Given the description of an element on the screen output the (x, y) to click on. 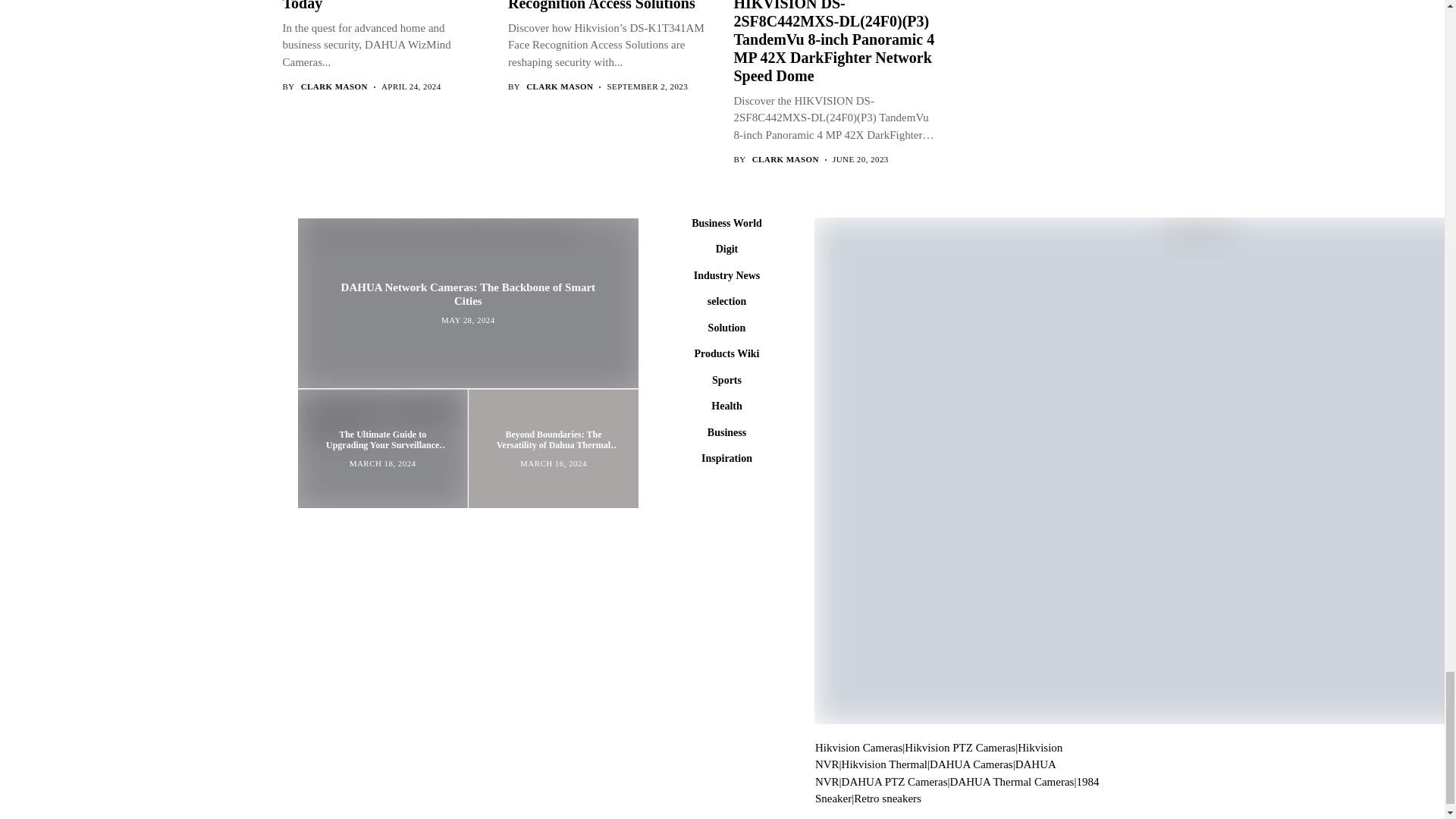
Posts by Clark Mason (558, 86)
Posts by Clark Mason (334, 86)
